Given the description of an element on the screen output the (x, y) to click on. 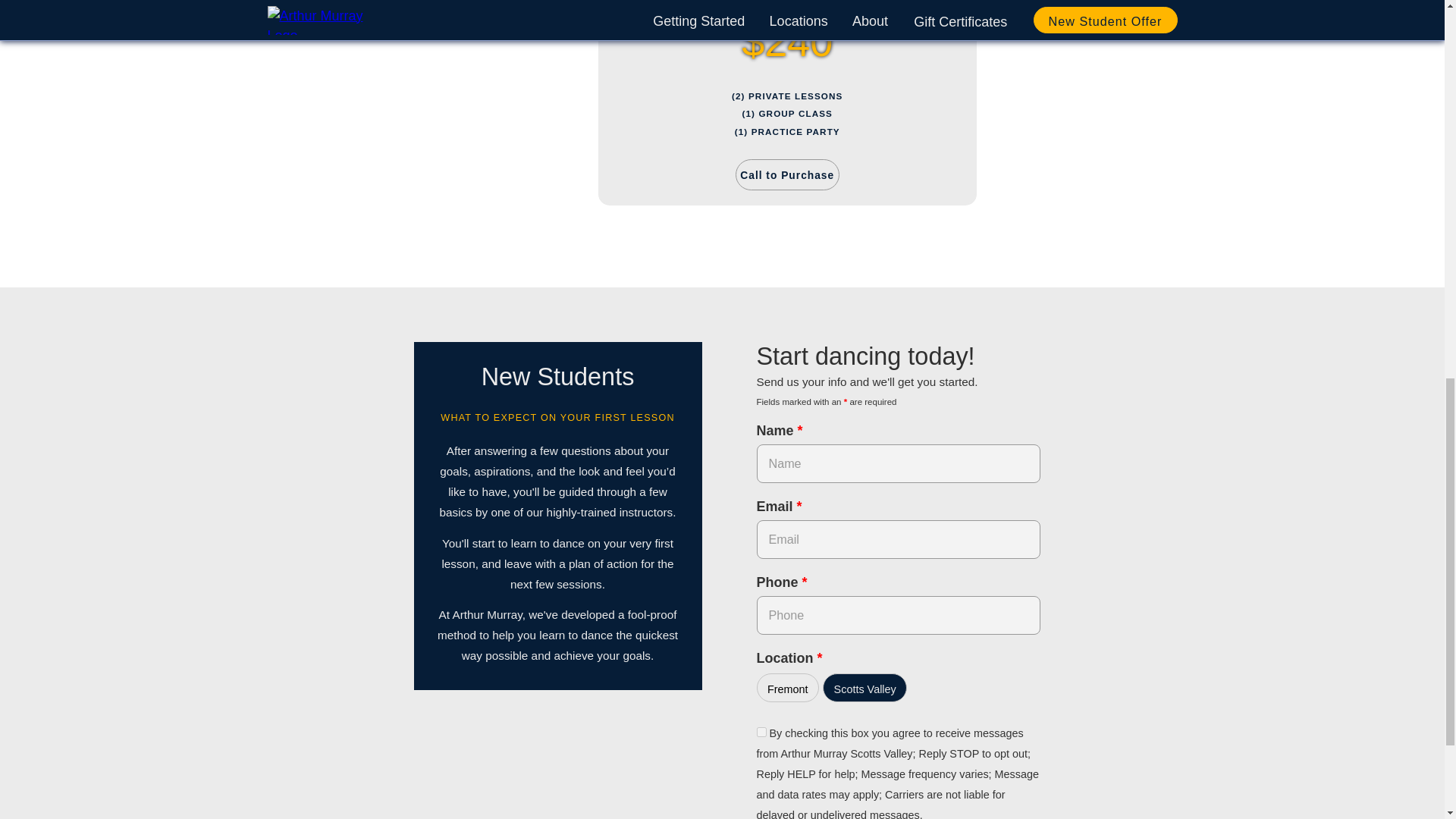
on (762, 732)
Enter US phone number (899, 615)
Call to Purchase (787, 174)
